Given the description of an element on the screen output the (x, y) to click on. 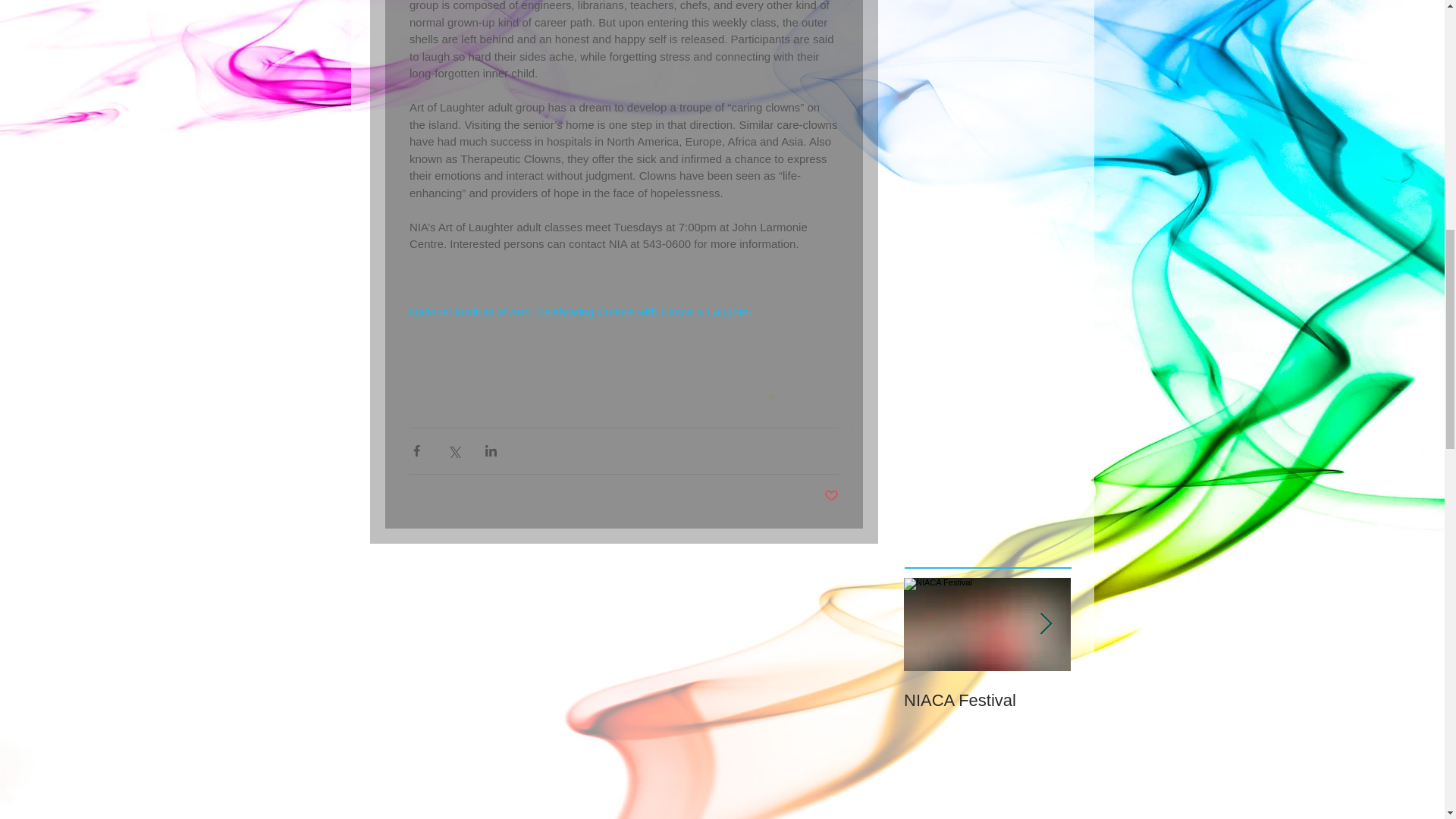
NIACA Festival (987, 700)
St. Maarten Dance Bootcamp (1153, 709)
Post not marked as liked (831, 496)
